Given the description of an element on the screen output the (x, y) to click on. 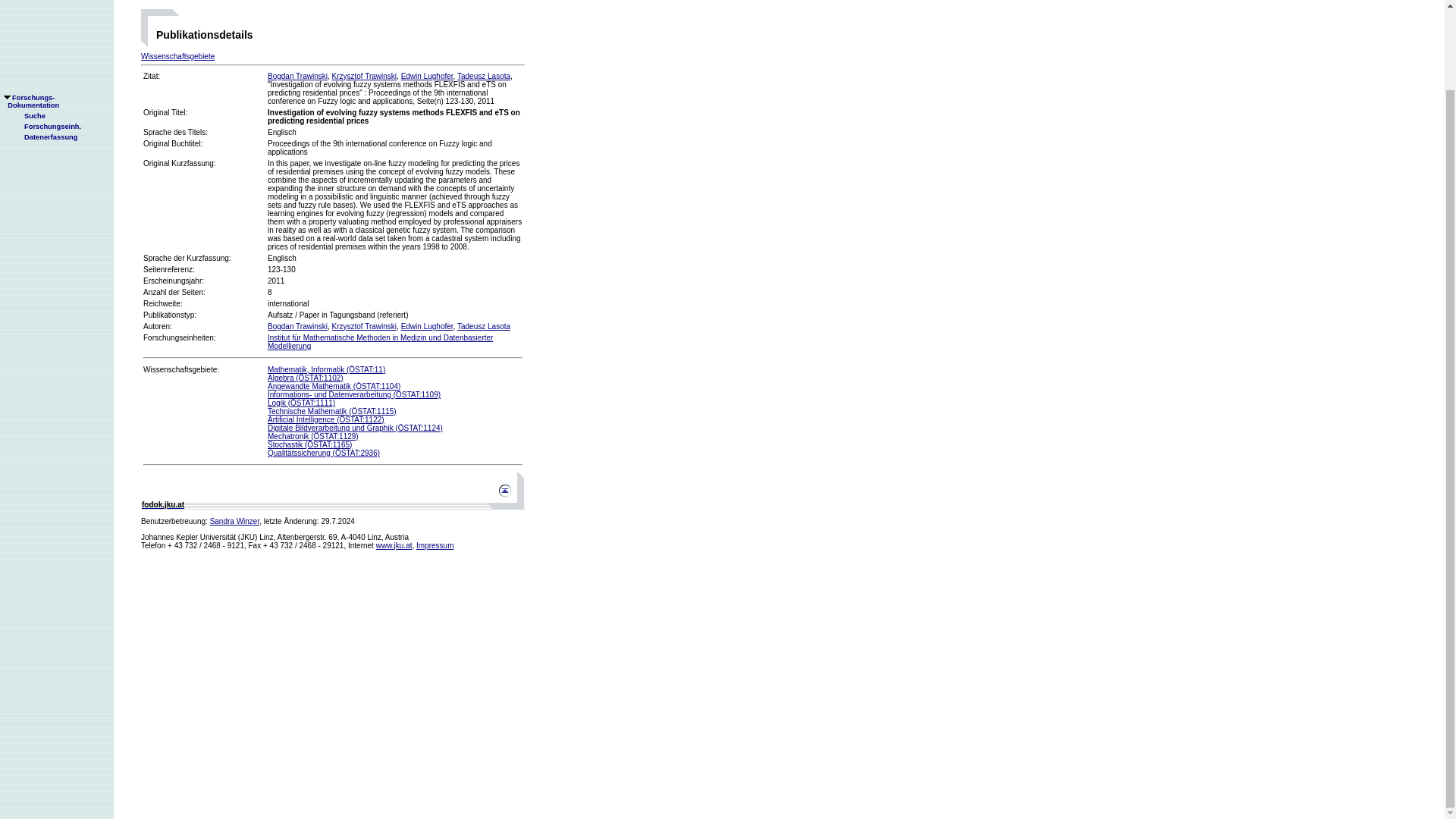
Sandra Winzer (234, 520)
Tadeusz Lasota (484, 326)
Impressum (29, 11)
Bogdan Trawinski (434, 545)
Forschungseinh. (297, 76)
www.jku.at (46, 36)
Datenerfassung (393, 545)
Suche (44, 46)
Edwin Lughofer (28, 25)
Wissenschaftsgebiete (426, 76)
Bogdan Trawinski (177, 56)
Edwin Lughofer (297, 326)
Krzysztof Trawinski (426, 326)
fodok.jku.at (364, 76)
